Given the description of an element on the screen output the (x, y) to click on. 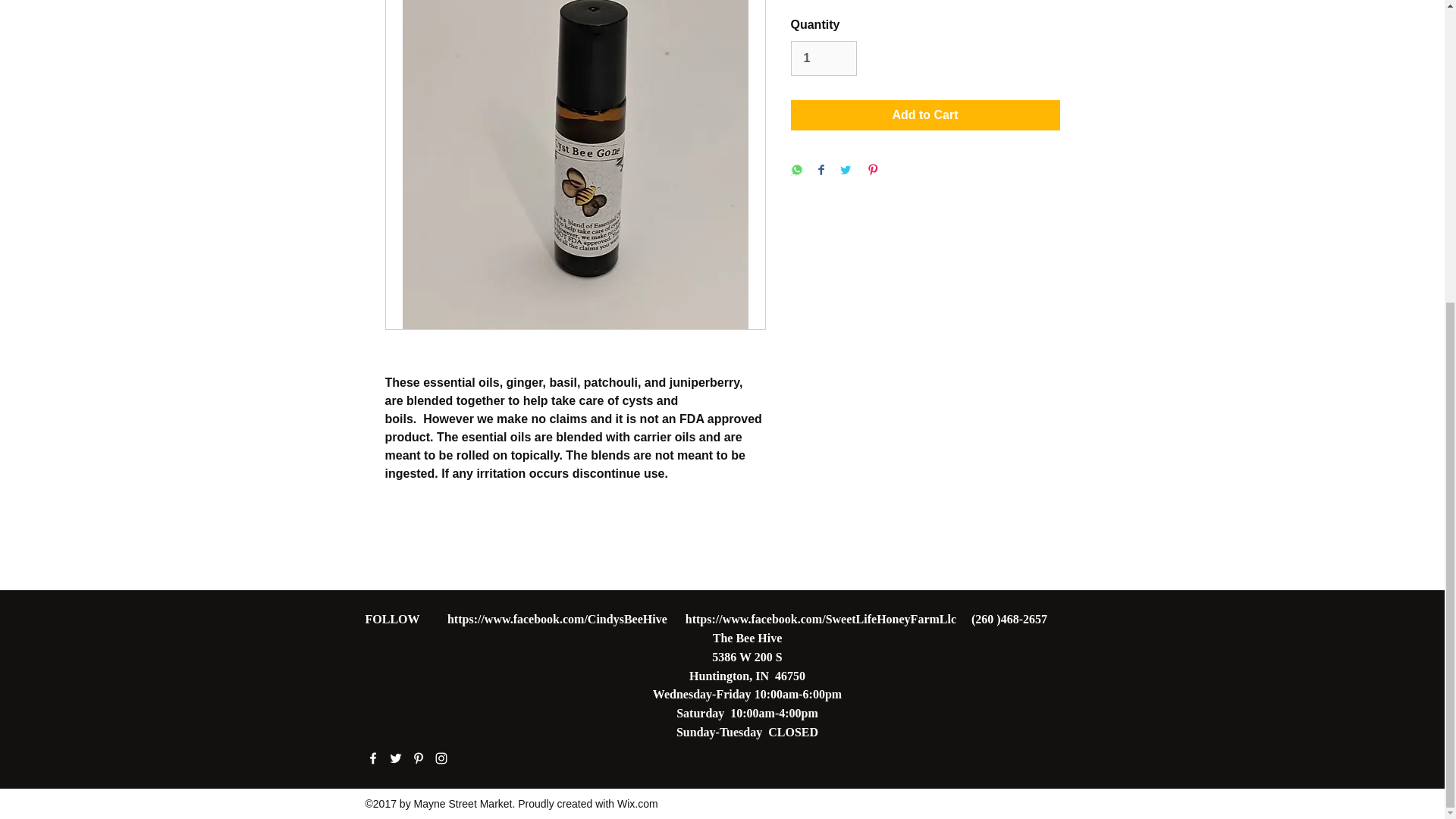
Add to Cart (924, 114)
1 (823, 58)
